Given the description of an element on the screen output the (x, y) to click on. 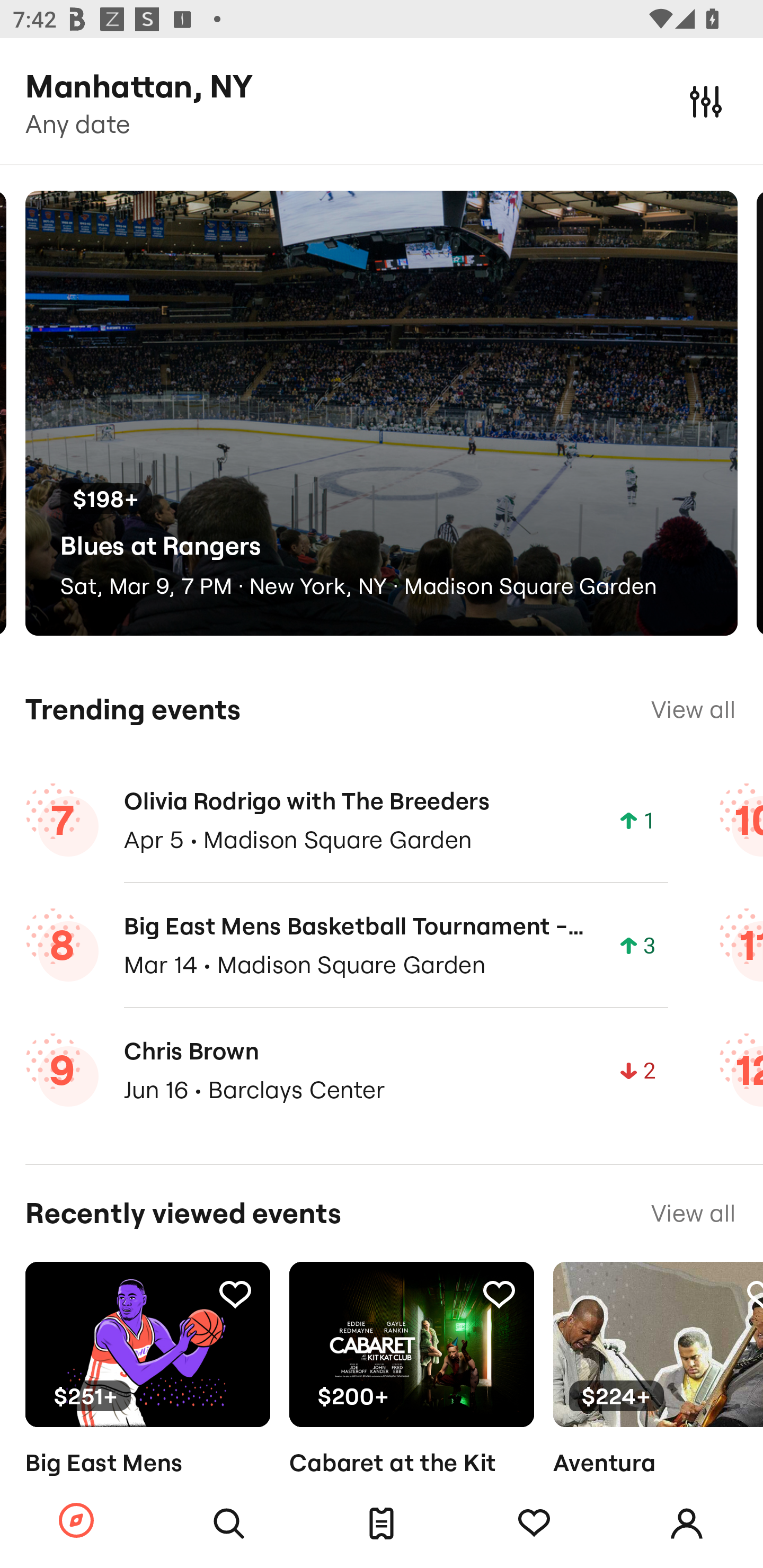
Filters (705, 100)
View all (693, 709)
View all (693, 1213)
Tracking $224+ Aventura Thu, May 30, 8 PM (658, 1399)
Tracking (234, 1293)
Tracking (498, 1293)
Browse (76, 1521)
Search (228, 1523)
Tickets (381, 1523)
Tracking (533, 1523)
Account (686, 1523)
